Given the description of an element on the screen output the (x, y) to click on. 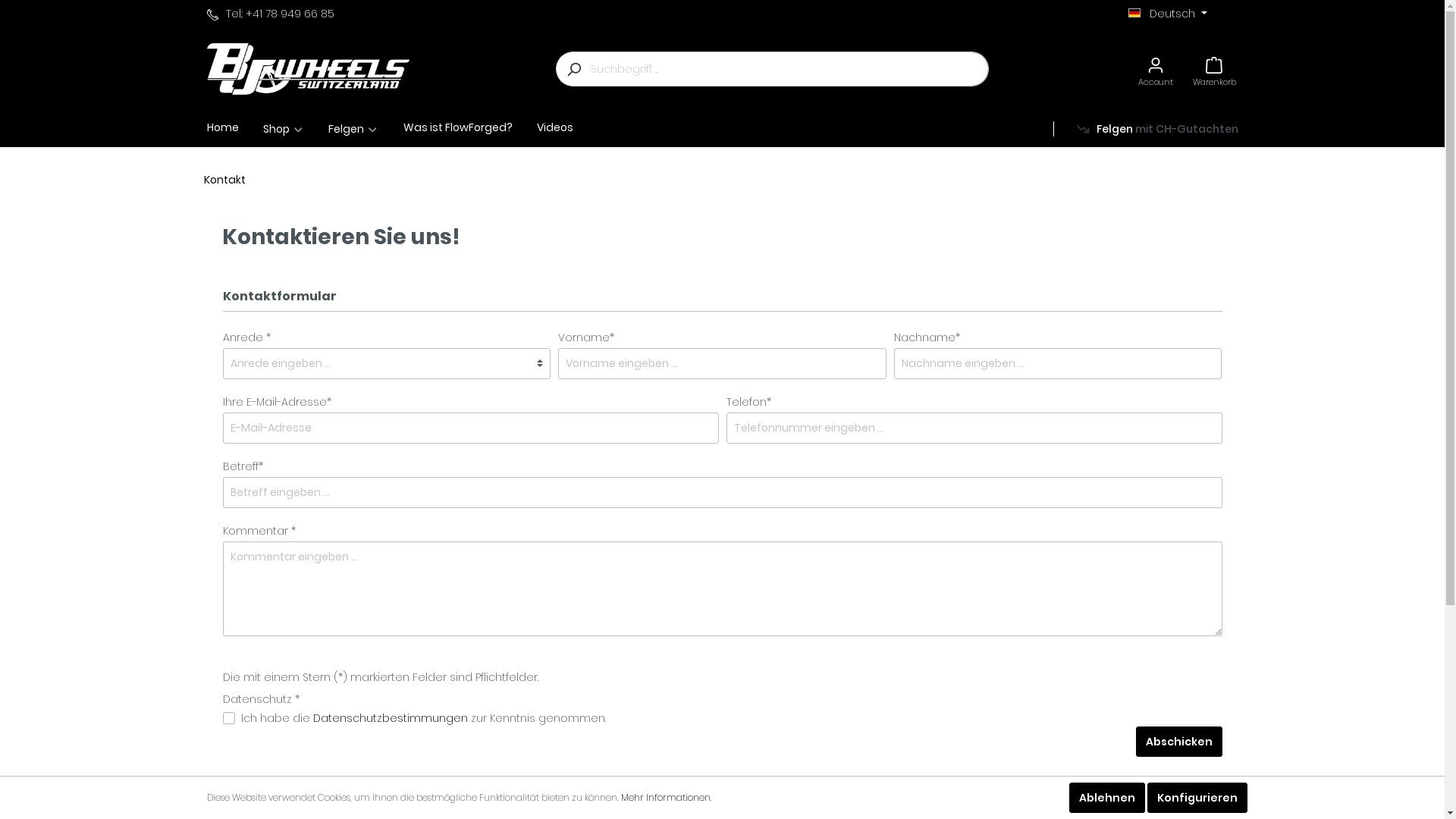
Videos Element type: text (566, 127)
Home Element type: text (234, 128)
Konfigurieren Element type: text (1196, 797)
Kontakt Element type: text (630, 127)
Mehr Informationen Element type: text (664, 797)
Kontakt Element type: text (223, 180)
Abschicken Element type: text (1178, 741)
Was ist FlowForged? Element type: text (469, 127)
Deutsch Element type: text (1167, 13)
Shop Element type: text (295, 128)
Warenkorb Element type: text (1214, 69)
Datenschutzbestimmungen Element type: text (389, 717)
Ablehnen Element type: text (1107, 797)
Zur Startseite wechseln Element type: hover (307, 67)
Account Element type: text (1155, 69)
Tel.: +41 78 949 66 85 Element type: text (269, 13)
